Given the description of an element on the screen output the (x, y) to click on. 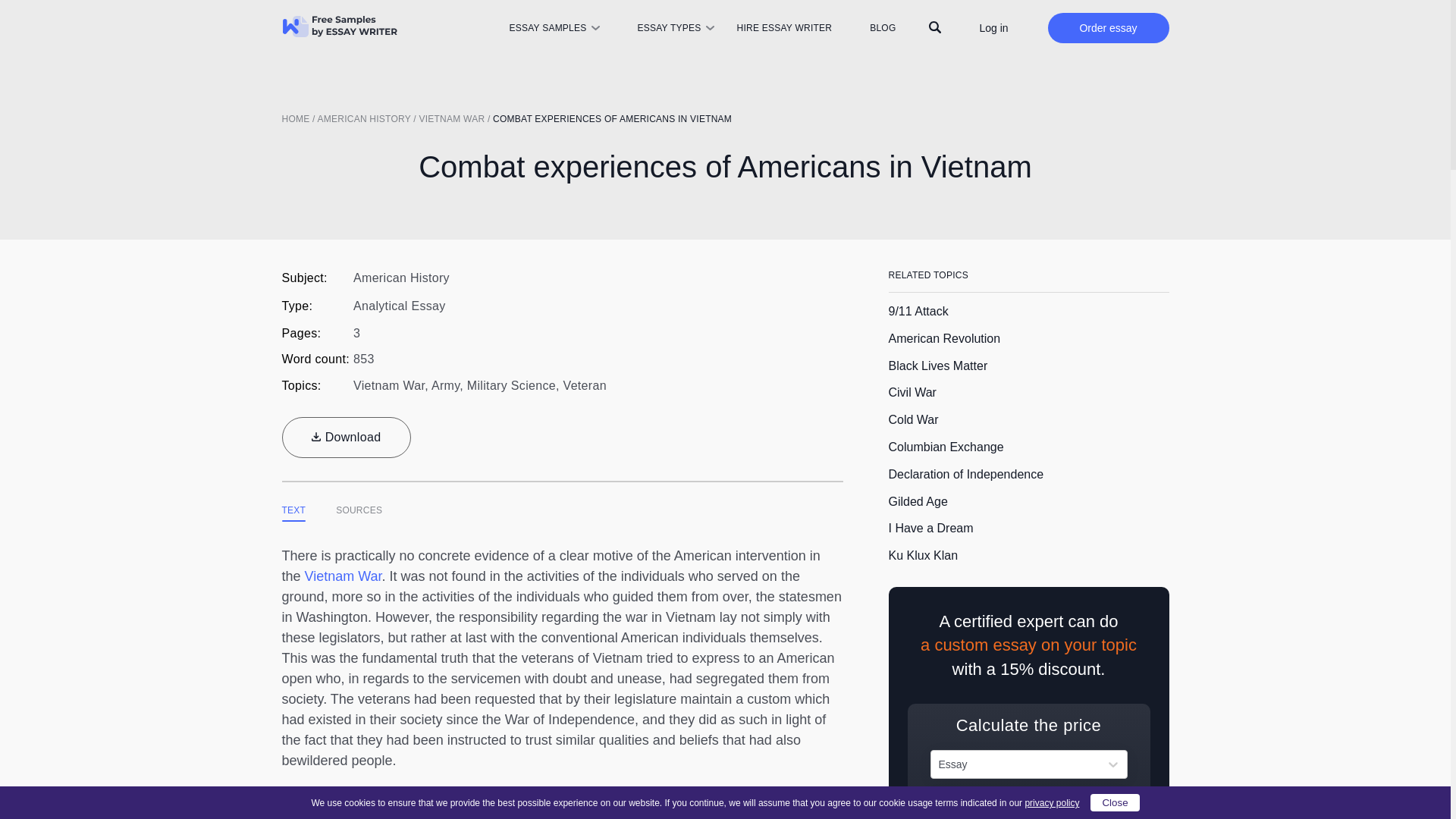
ESSAY SAMPLES (545, 28)
ESSAY TYPES (668, 28)
